Given the description of an element on the screen output the (x, y) to click on. 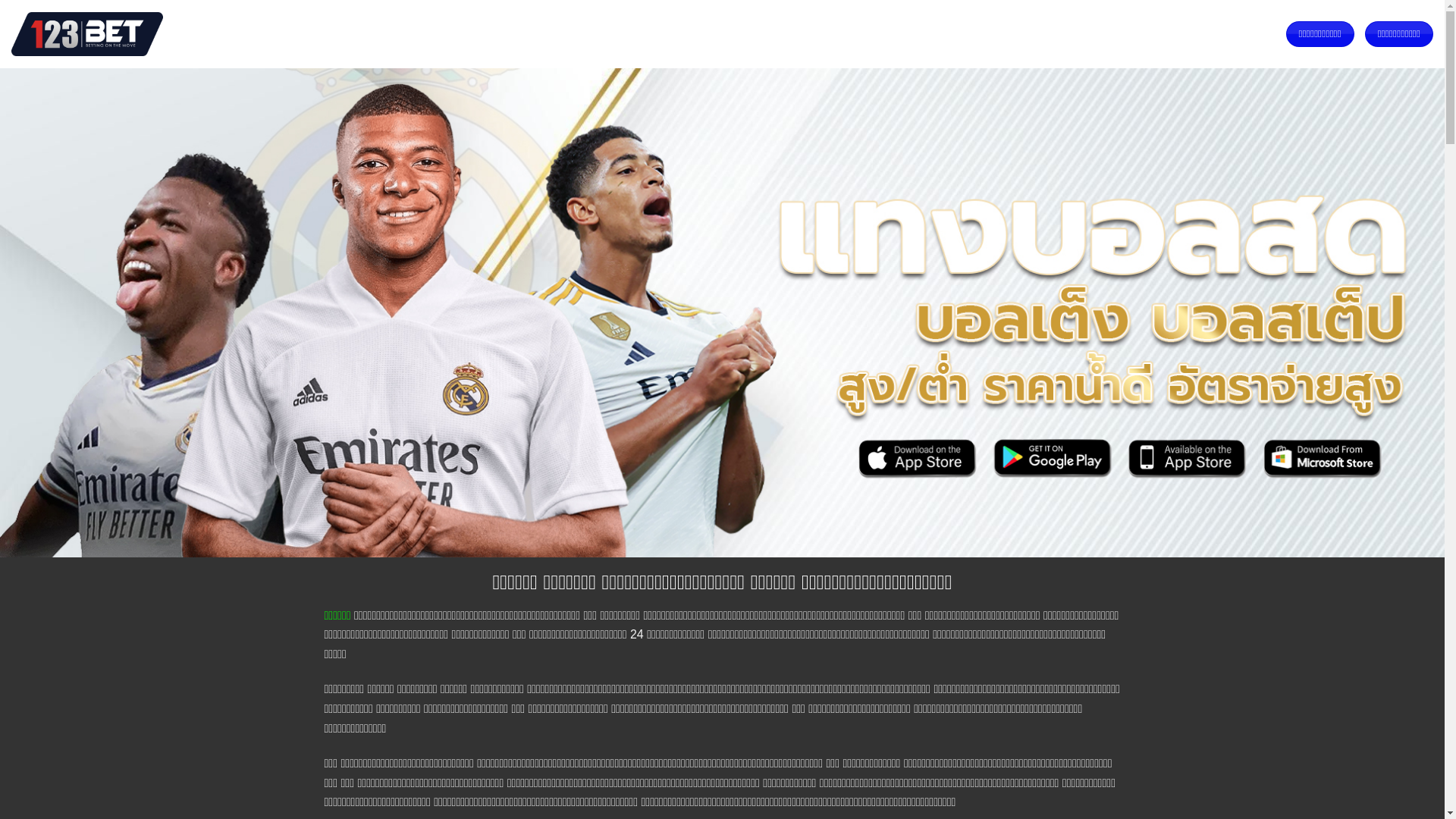
UFABET (337, 33)
herning2022 (87, 34)
SITEMAP (556, 33)
